Given the description of an element on the screen output the (x, y) to click on. 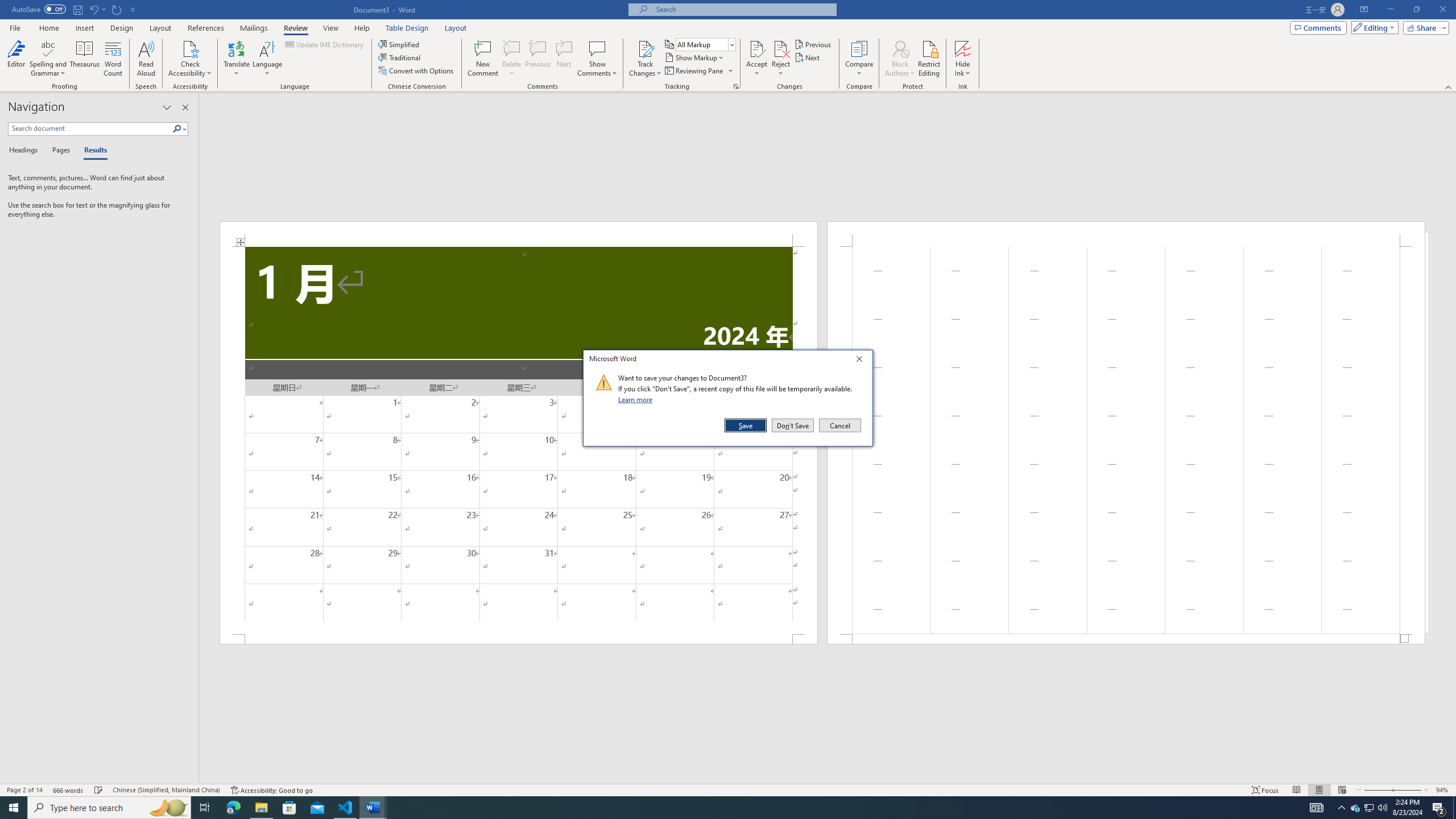
Next (1368, 807)
User Promoted Notification Area (808, 56)
Delete (1368, 807)
Read Aloud (511, 48)
Reject and Move to Next (145, 58)
Compare (780, 48)
Notification Chevron (859, 58)
Delete (1341, 807)
Reviewing Pane (511, 58)
